Given the description of an element on the screen output the (x, y) to click on. 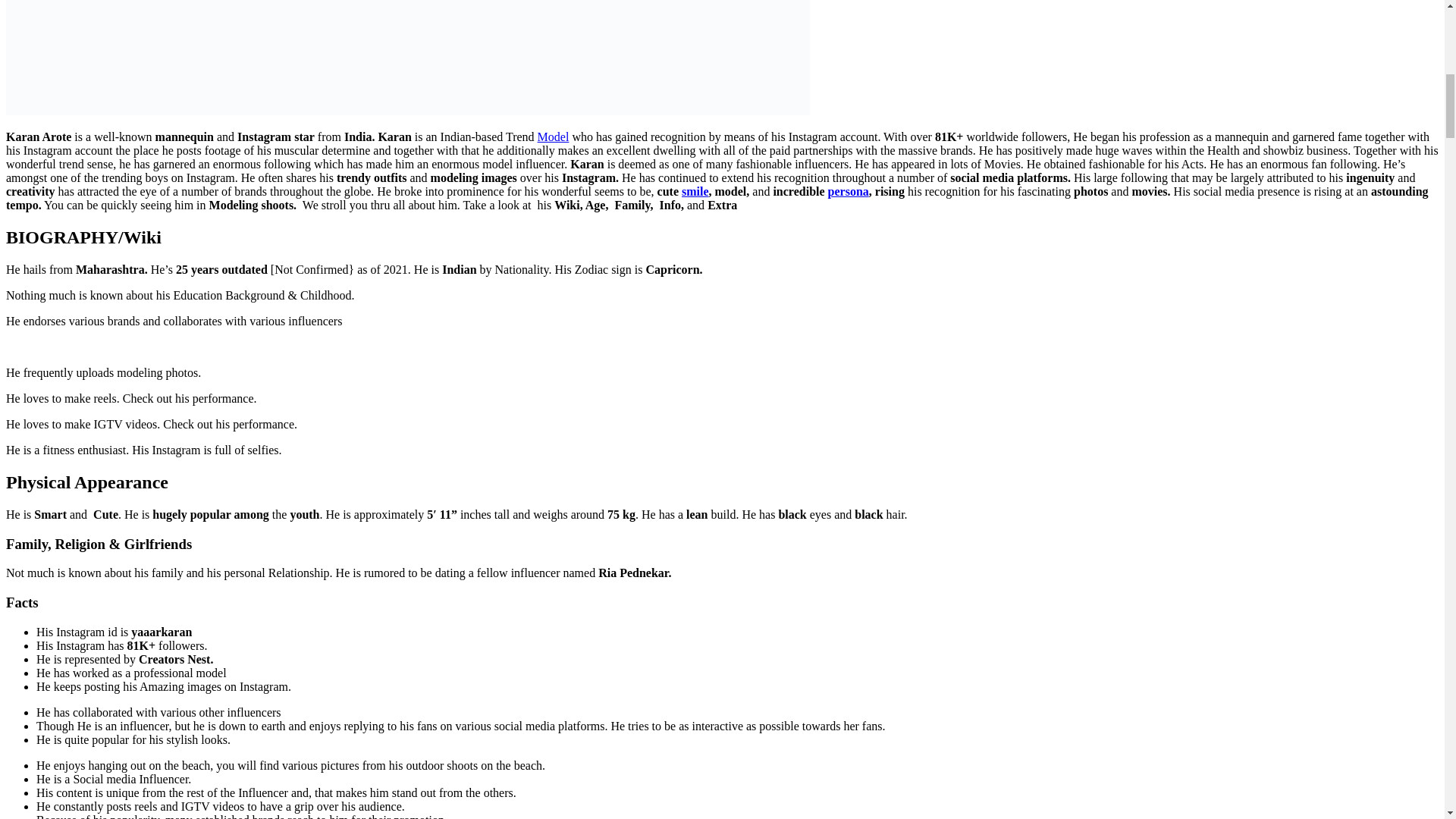
Ester Kuntu Wiki (848, 191)
Model (553, 136)
Antje Utgaard Wiki (553, 136)
smile (695, 191)
Joanna Page Wiki (695, 191)
persona (848, 191)
